Given the description of an element on the screen output the (x, y) to click on. 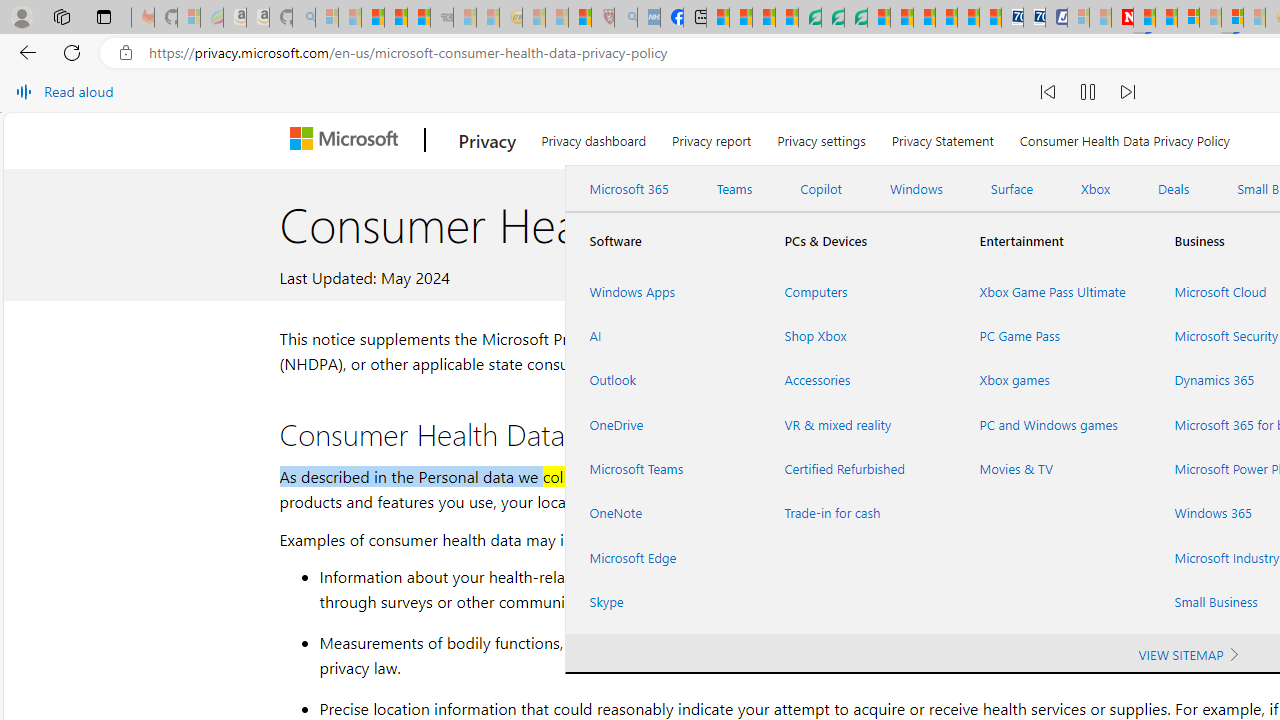
Local - MSN (580, 17)
Consumer Health Data Privacy Policy (1124, 137)
Shop Xbox (858, 336)
Windows Apps (662, 291)
Trusted Community Engagement and Contributions | Guidelines (1144, 17)
Teams (734, 189)
LendingTree - Compare Lenders (809, 17)
Privacy dashboard (593, 137)
Accessories (858, 380)
Privacy report (712, 137)
